Given the description of an element on the screen output the (x, y) to click on. 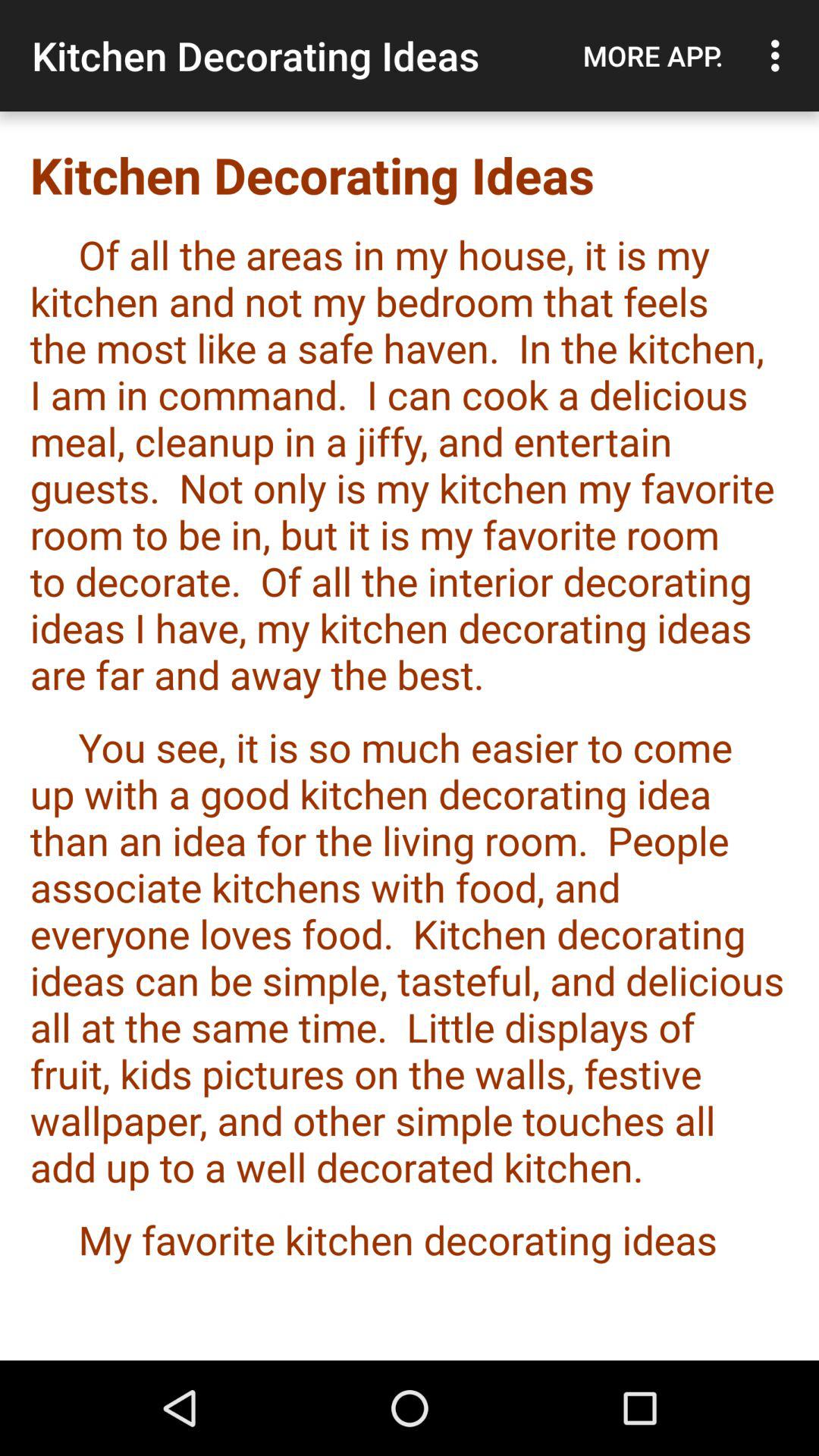
open item above kitchen decorating ideas item (653, 55)
